Given the description of an element on the screen output the (x, y) to click on. 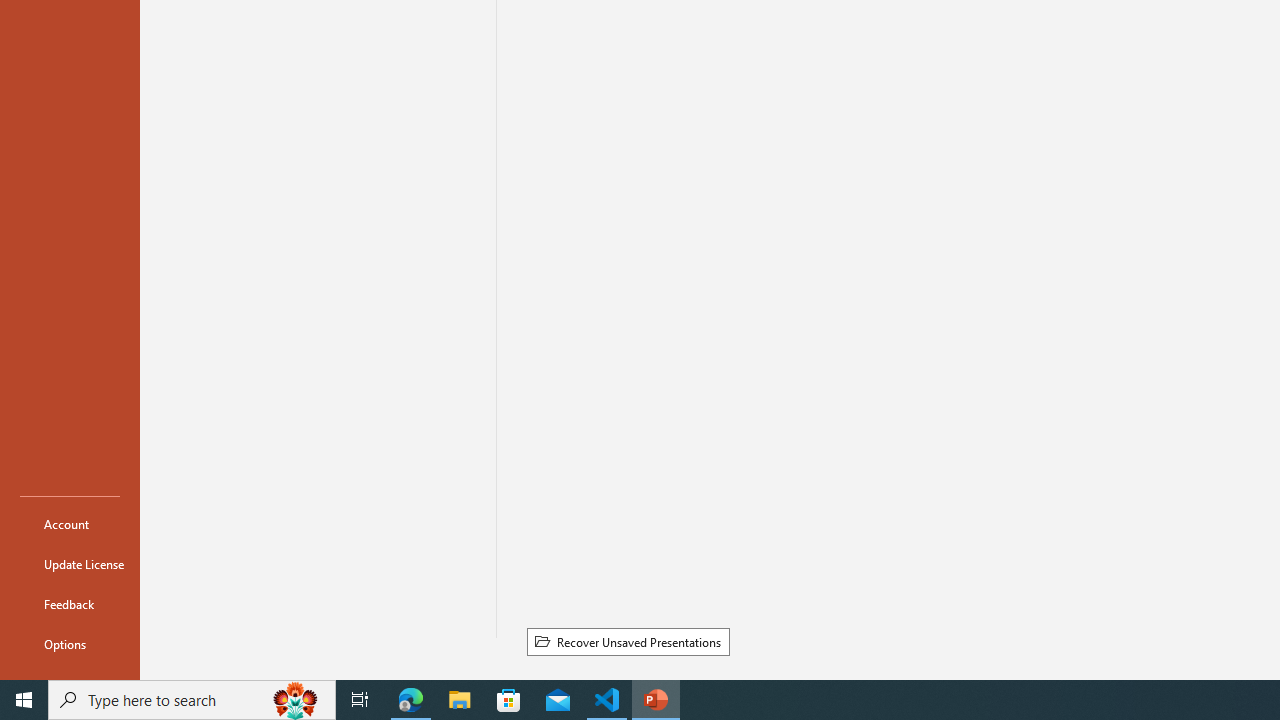
Recover Unsaved Presentations (628, 641)
Update License (69, 563)
Account (69, 523)
Options (69, 643)
Feedback (69, 603)
